Given the description of an element on the screen output the (x, y) to click on. 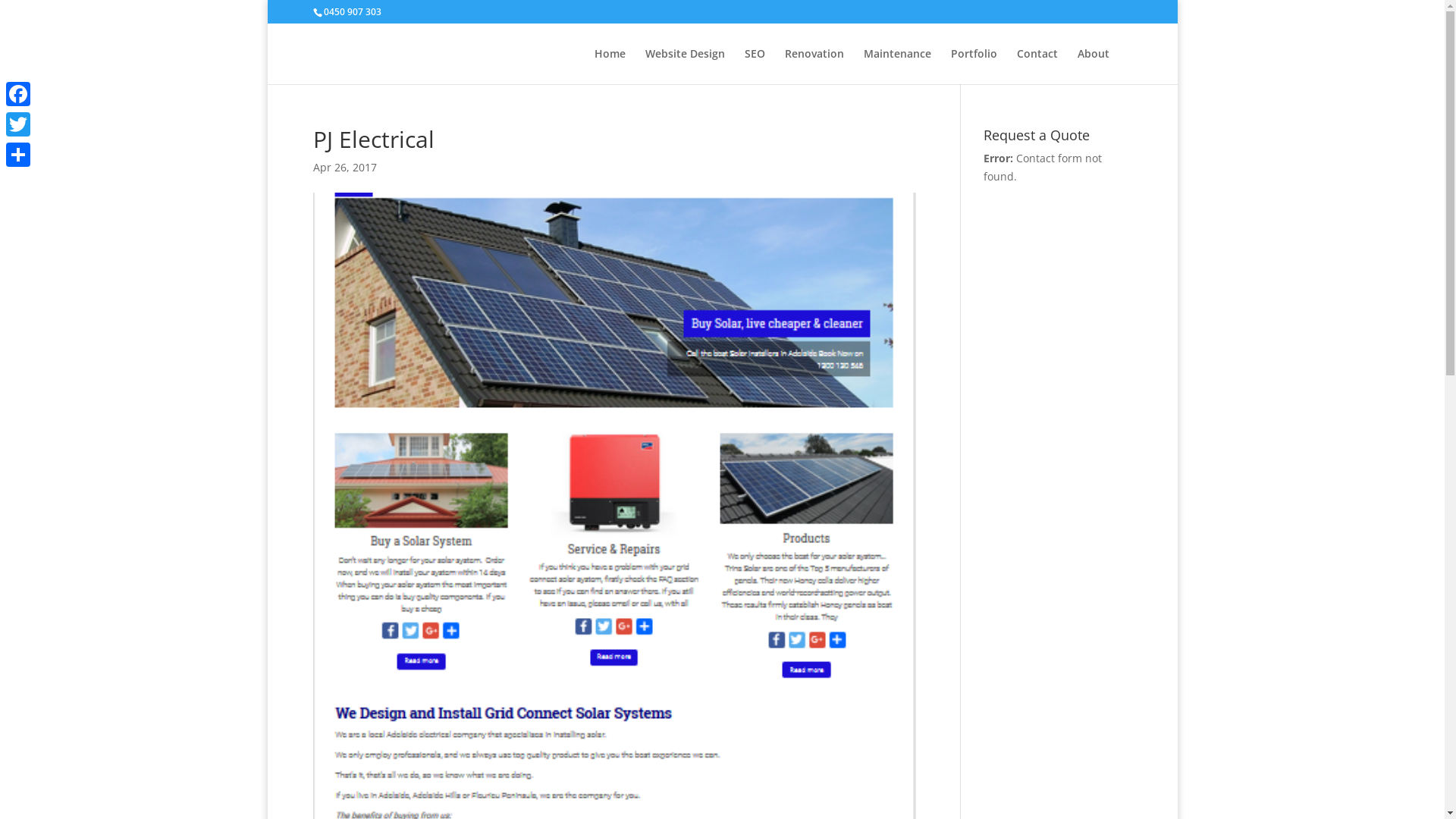
Contact Element type: text (1036, 66)
Website Design Element type: text (684, 66)
Maintenance Element type: text (896, 66)
Twitter Element type: text (18, 124)
Home Element type: text (609, 66)
Facebook Element type: text (18, 93)
About Element type: text (1092, 66)
Portfolio Element type: text (973, 66)
Renovation Element type: text (813, 66)
Share Element type: text (18, 154)
SEO Element type: text (754, 66)
